Given the description of an element on the screen output the (x, y) to click on. 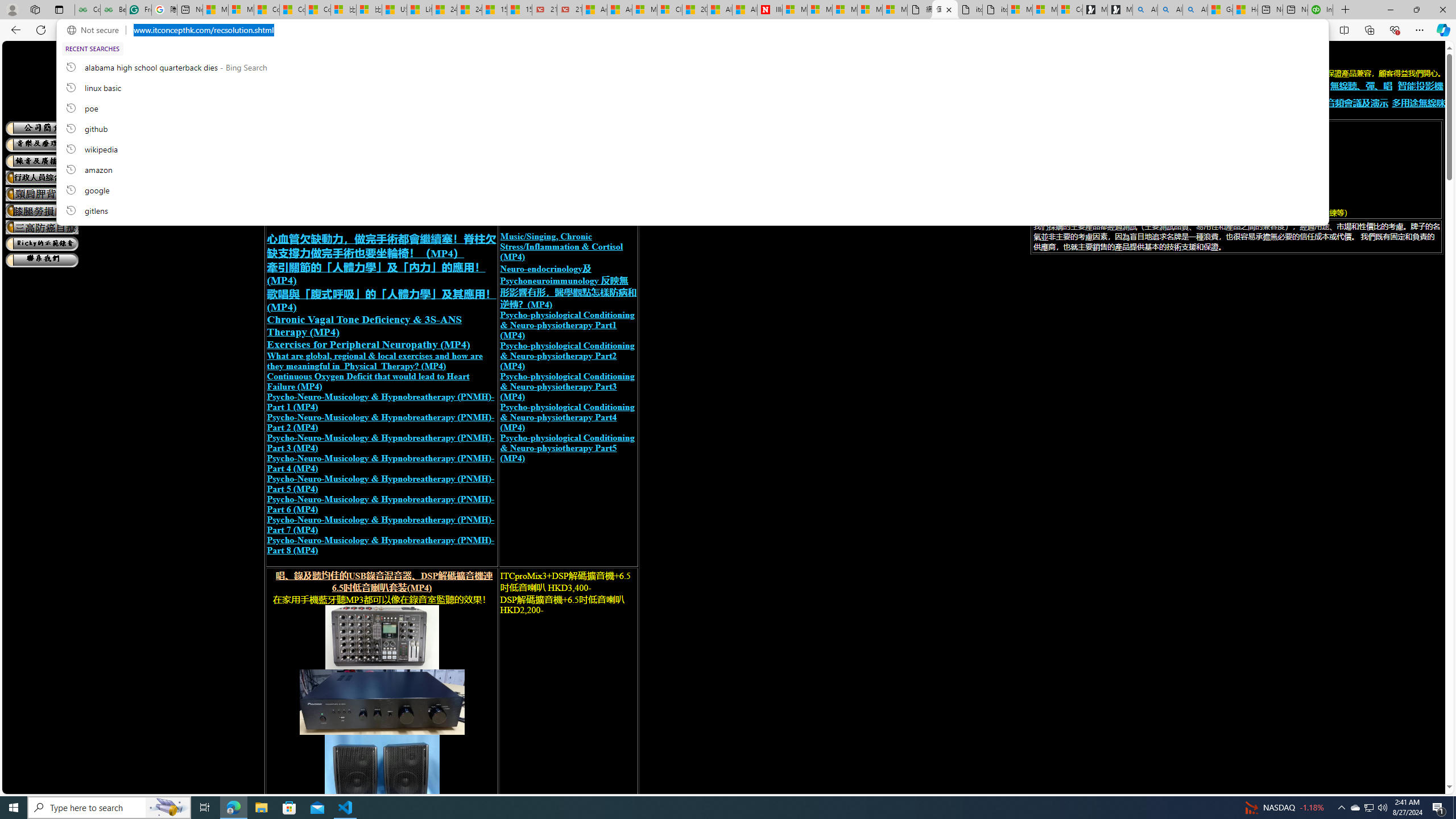
amazon, recent searches from history (691, 168)
Music/Singing, Chronic Stress/Inflammation & Cortisol (MP4) (561, 246)
poe, recent searches from history (691, 107)
